Given the description of an element on the screen output the (x, y) to click on. 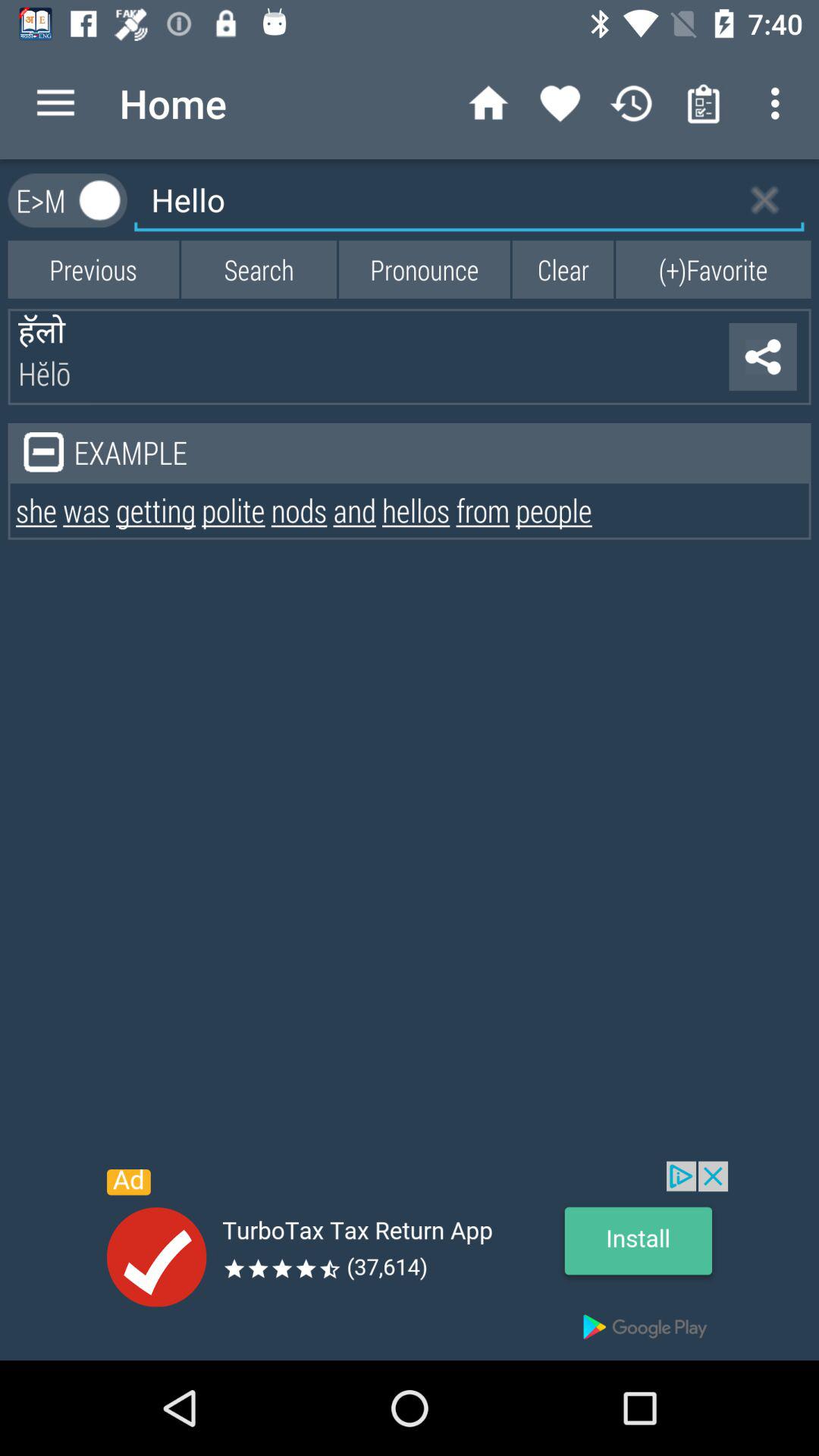
toggle option (100, 200)
